Given the description of an element on the screen output the (x, y) to click on. 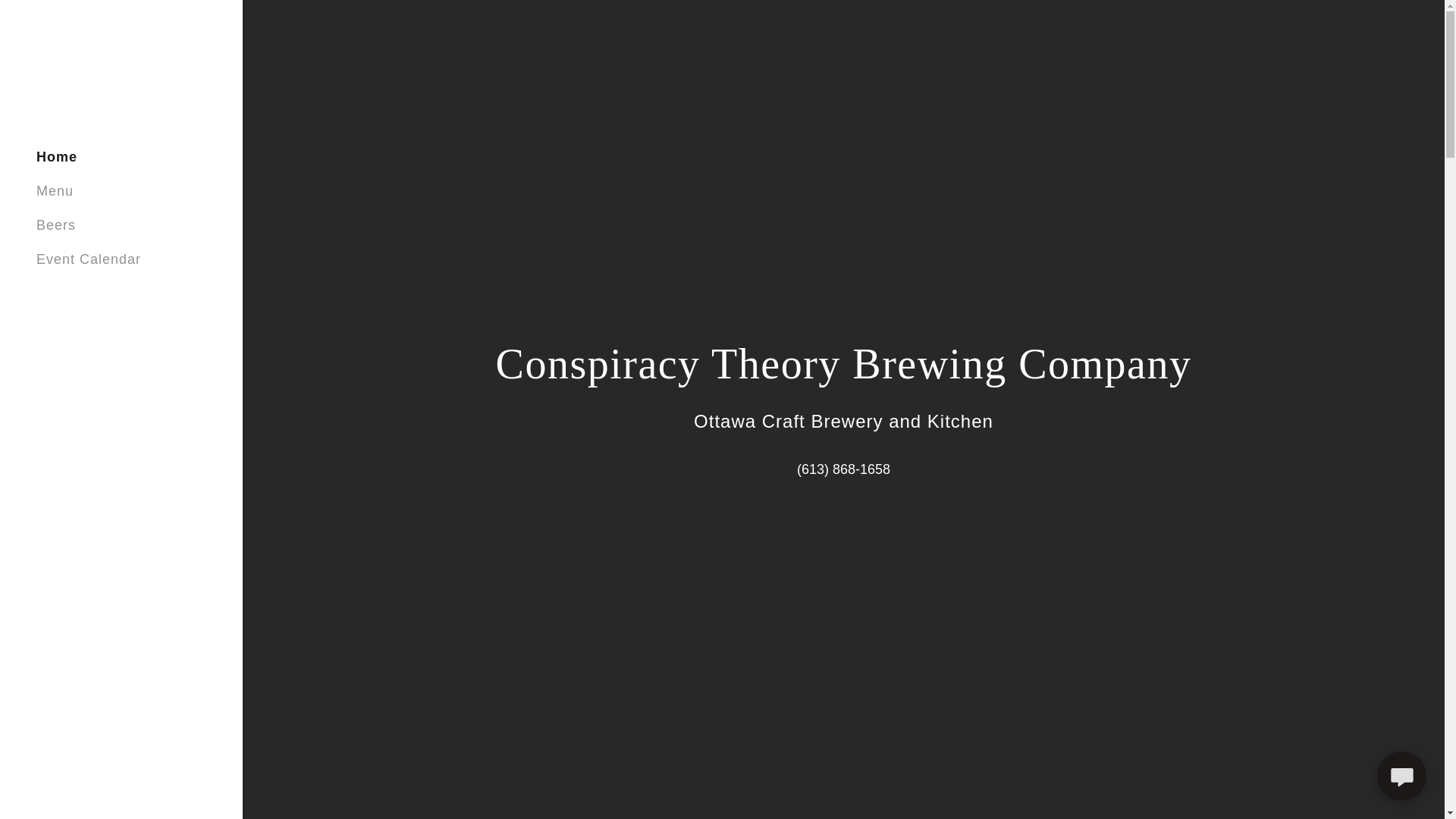
Home (56, 156)
Event Calendar (88, 258)
Menu (55, 191)
Beers (55, 224)
